Given the description of an element on the screen output the (x, y) to click on. 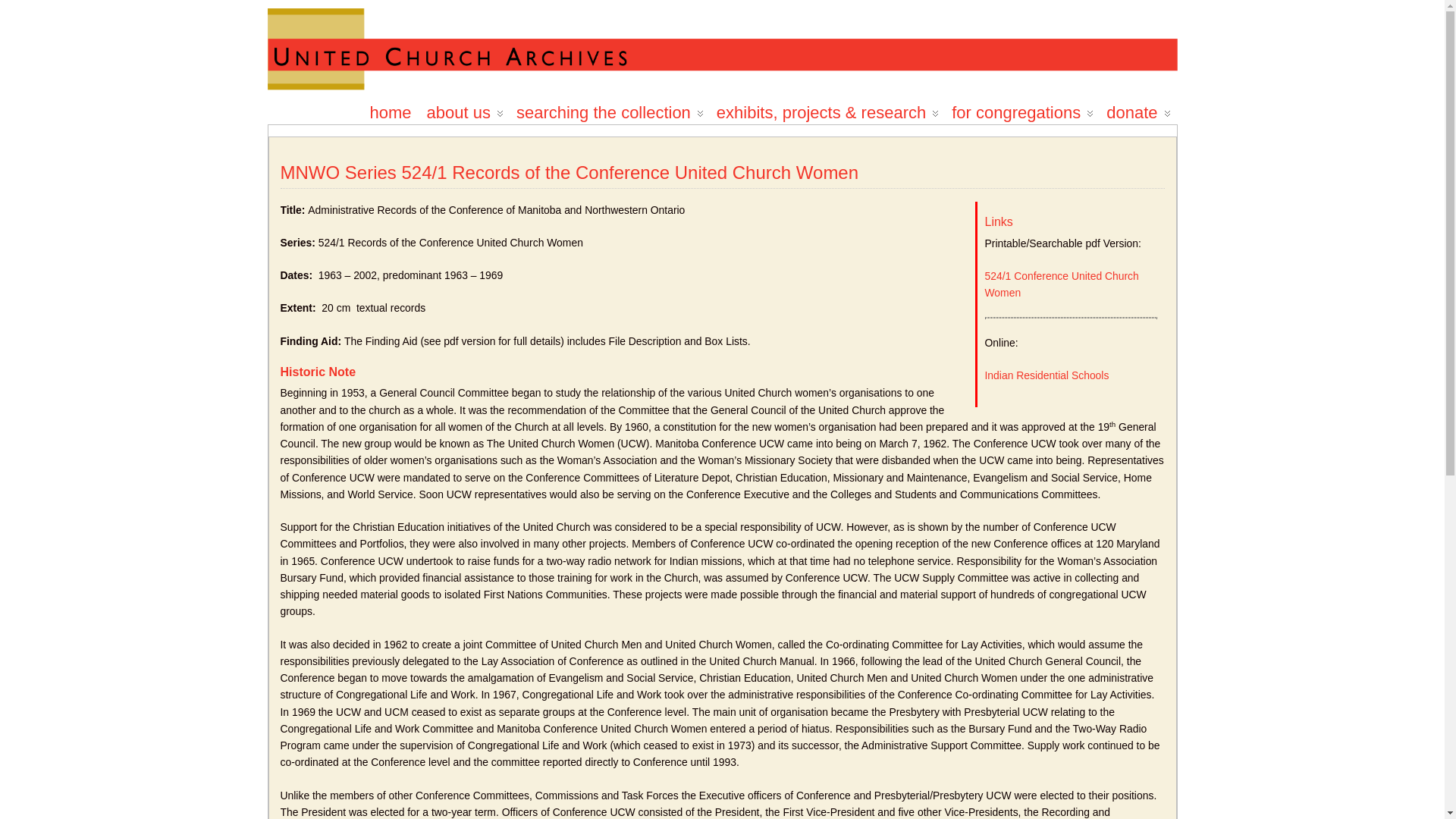
 for congregations (1020, 106)
Indian Residential Schools Overview (1046, 375)
Indian Residential Schools (1046, 375)
 about us (463, 106)
 donate (1136, 106)
home (389, 106)
 searching the collection (609, 106)
